Given the description of an element on the screen output the (x, y) to click on. 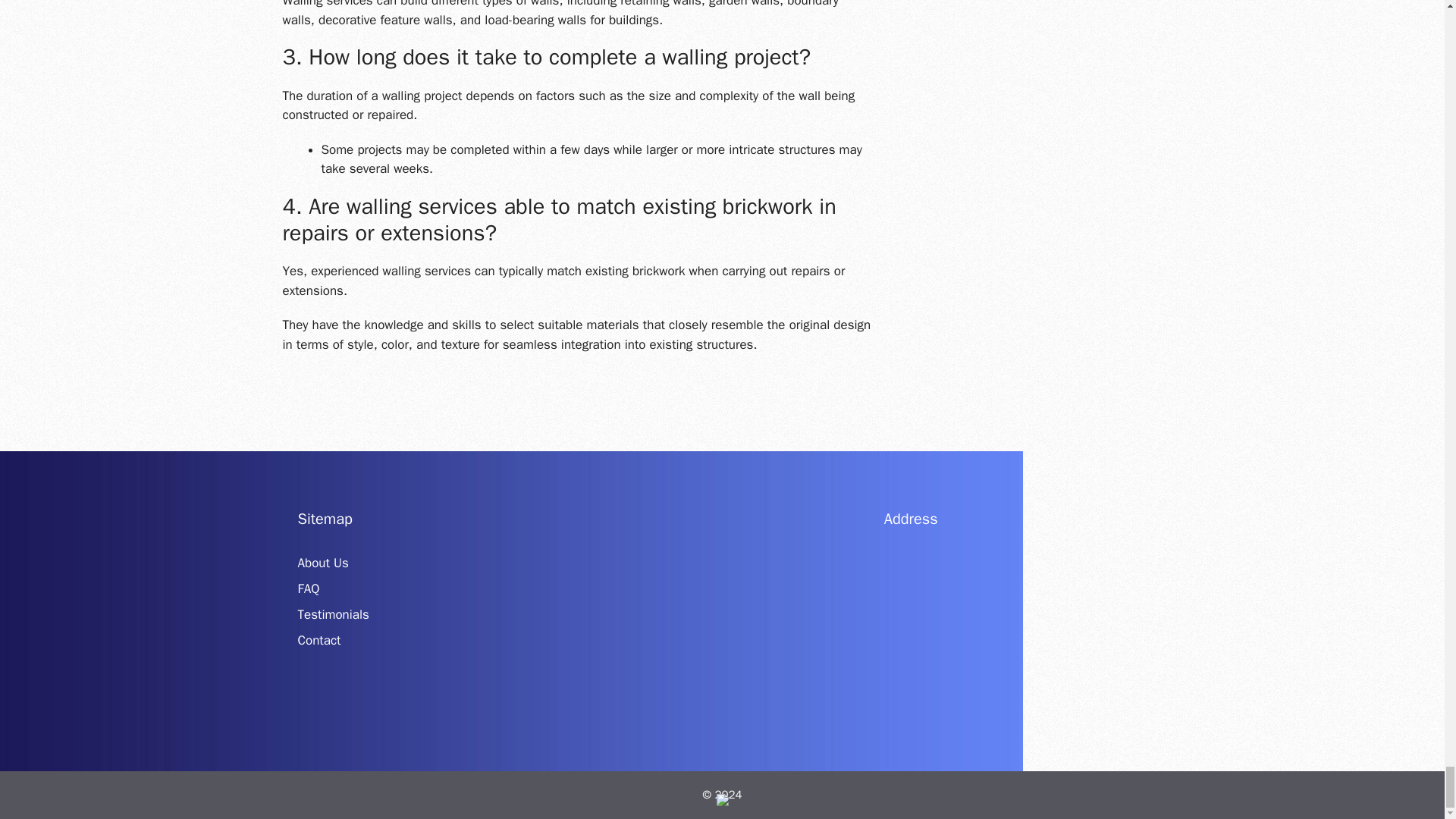
Contact (318, 640)
FAQ (307, 588)
Testimonials (332, 614)
About Us (322, 562)
